Given the description of an element on the screen output the (x, y) to click on. 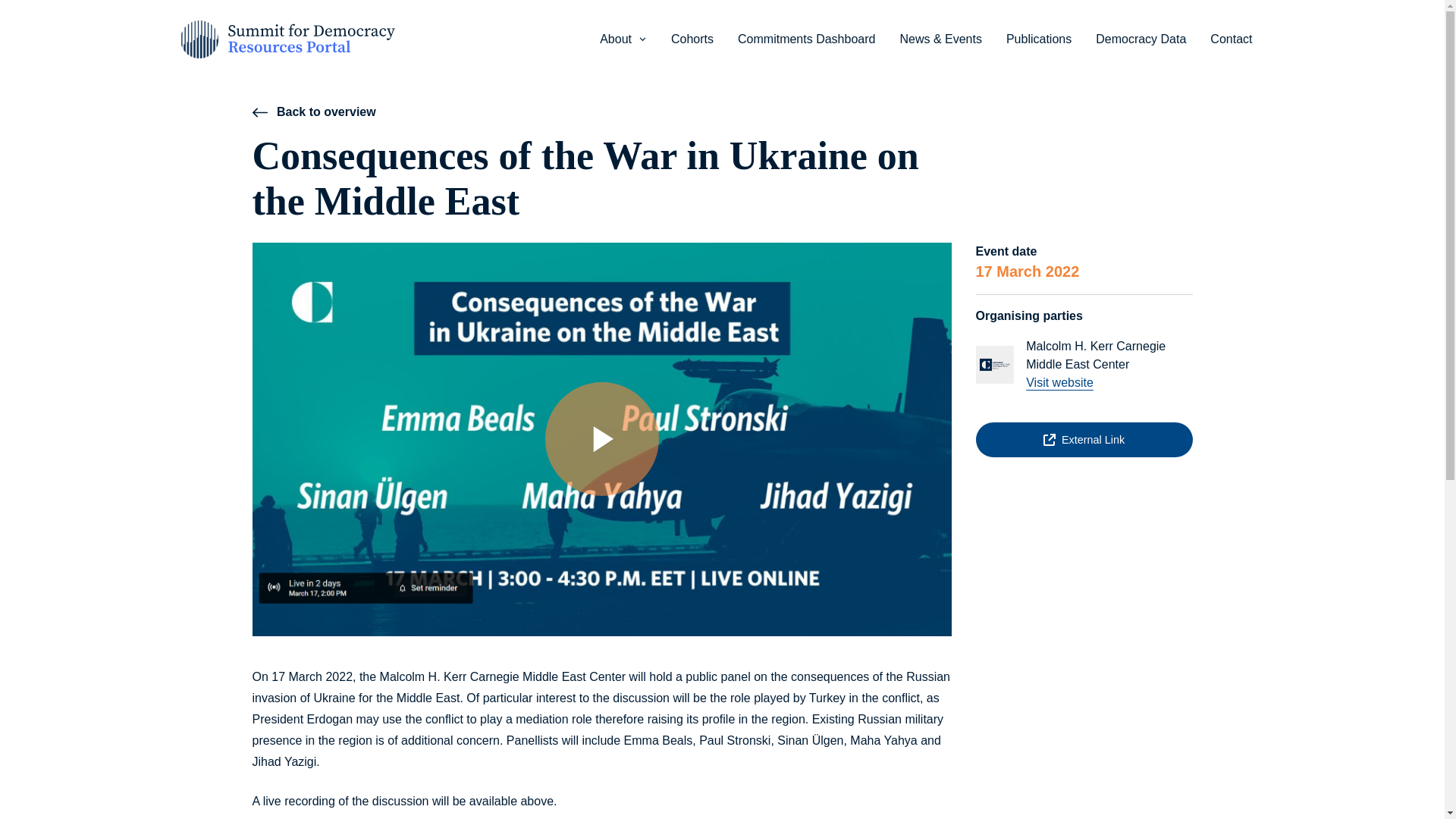
Visit website (1059, 382)
External Link (1083, 439)
Back to overview (313, 112)
Contact (1230, 39)
Publications (1038, 39)
Cohorts (692, 39)
Commitments Dashboard (805, 39)
Democracy Data (1140, 39)
About (623, 39)
